Given the description of an element on the screen output the (x, y) to click on. 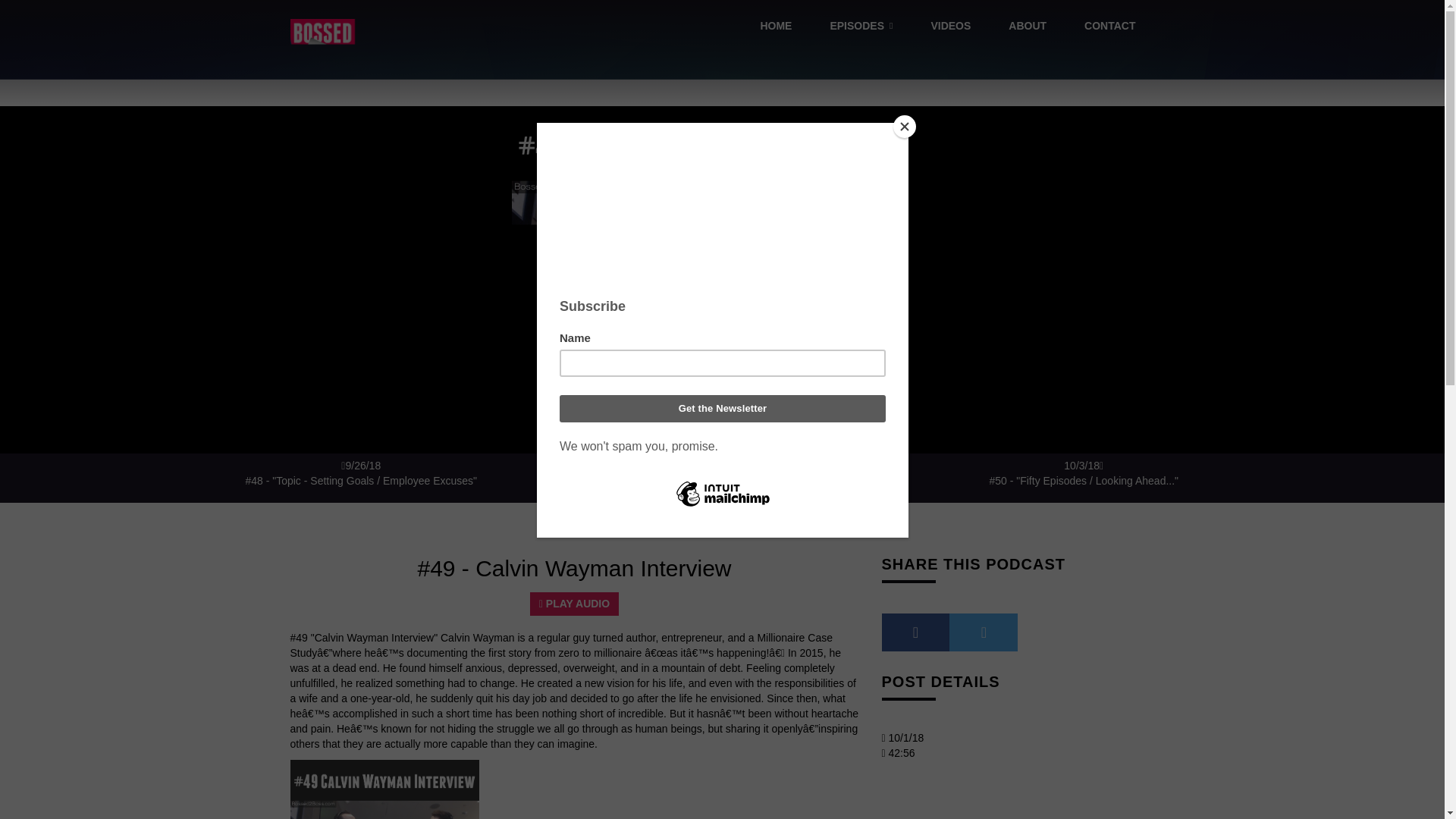
EPISODES (860, 26)
PLAY AUDIO (573, 603)
PLAY AUDIO (574, 609)
ABOUT (1027, 26)
CONTACT (1109, 26)
VIDEOS (950, 26)
HOME (775, 26)
